Given the description of an element on the screen output the (x, y) to click on. 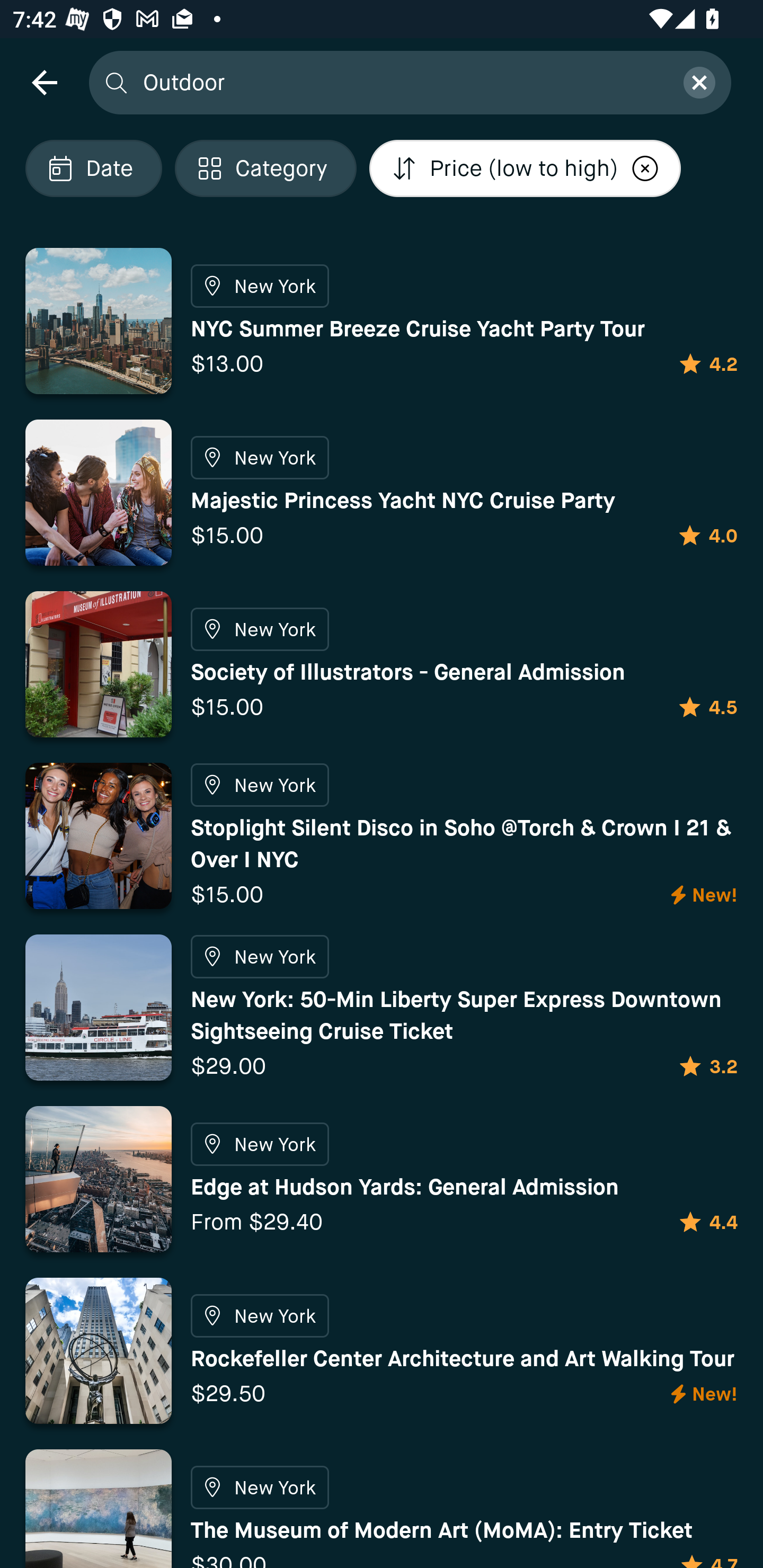
navigation icon (44, 81)
Outdoor (402, 81)
Localized description Date (93, 168)
Localized description Category (265, 168)
Localized description (645, 168)
